Given the description of an element on the screen output the (x, y) to click on. 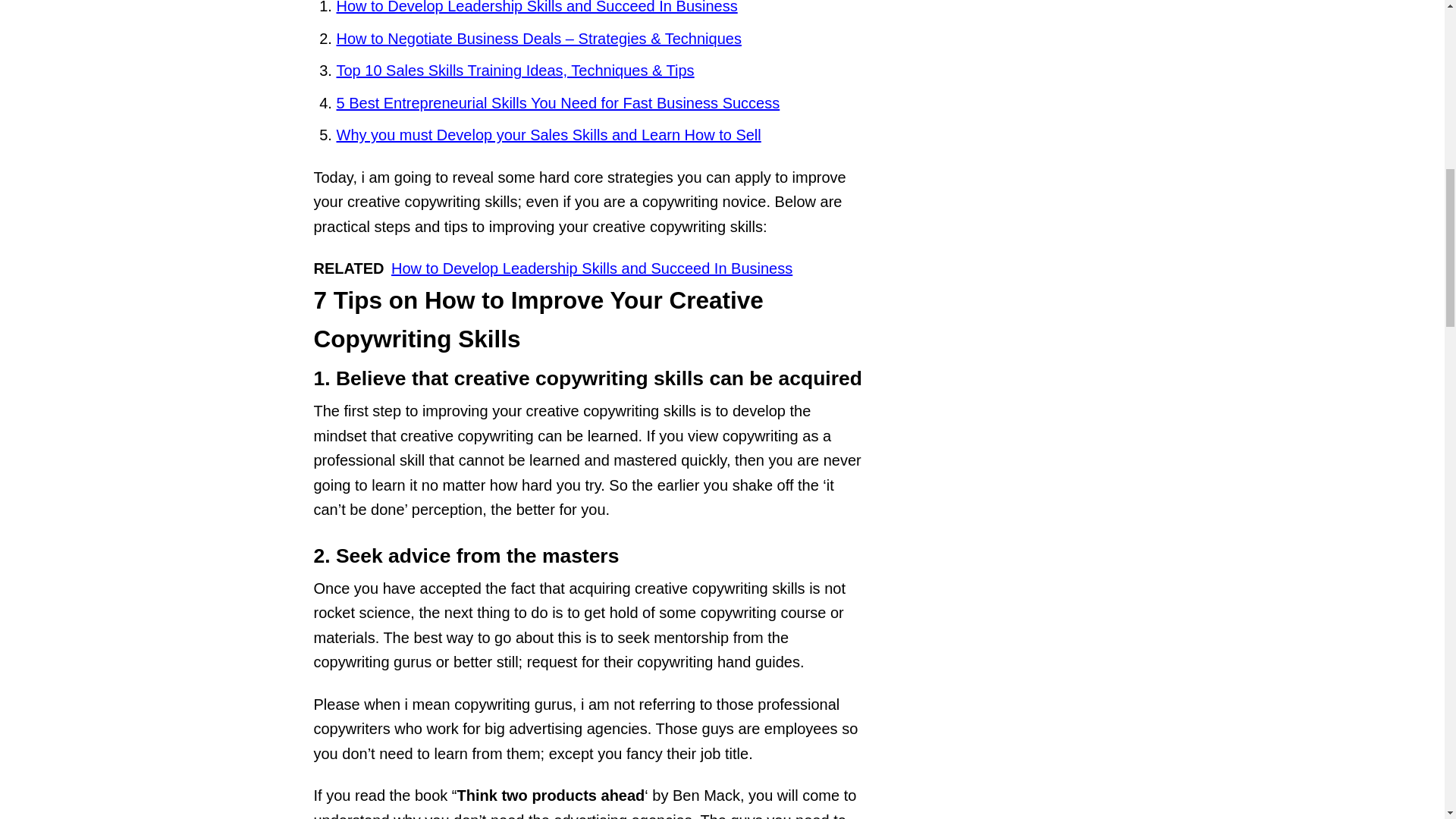
Why you must Develop your Sales Skills and Learn How to Sell (548, 134)
How to Develop Leadership Skills and Succeed In Business (537, 7)
How to Develop Leadership Skills and Succeed In Business (537, 7)
How to Develop Leadership Skills and Succeed In Business (591, 268)
Why you must Develop your Sales Skills and Learn How to Sell (548, 134)
